Given the description of an element on the screen output the (x, y) to click on. 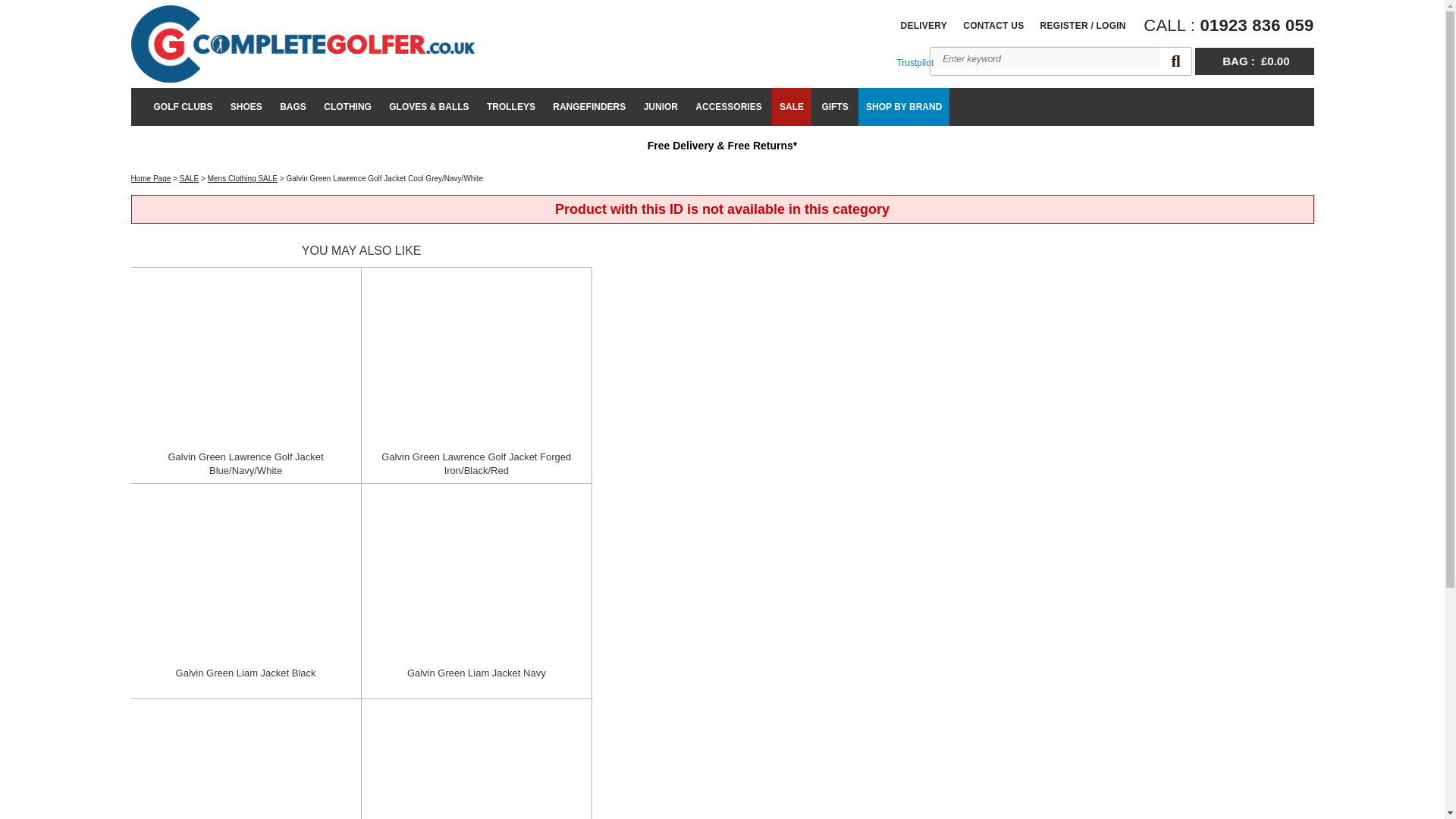
Trustpilot (914, 62)
GOLF CLUBS (182, 106)
CONTACT US (992, 25)
DELIVERY (924, 25)
Home Page (302, 43)
